Given the description of an element on the screen output the (x, y) to click on. 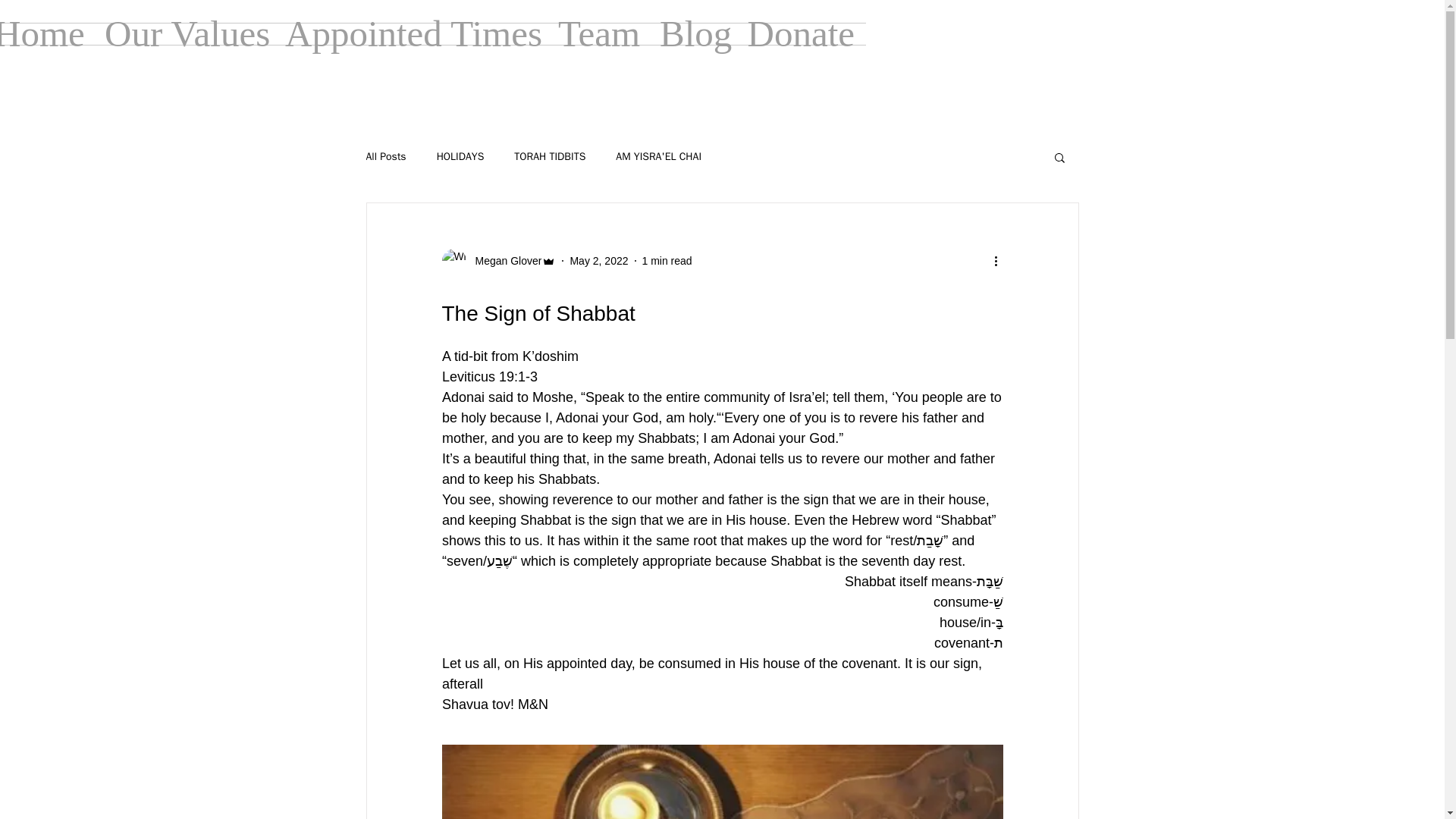
Donate (800, 34)
AM YISRA'EL CHAI (658, 156)
Our Values (183, 34)
HOLIDAYS (460, 156)
Megan Glover (498, 260)
Megan Glover (503, 261)
Home (46, 34)
All Posts (385, 156)
May 2, 2022 (598, 260)
1 min read (666, 260)
Team (597, 34)
Appointed Times (410, 34)
Blog (691, 34)
TORAH TIDBITS (549, 156)
